Given the description of an element on the screen output the (x, y) to click on. 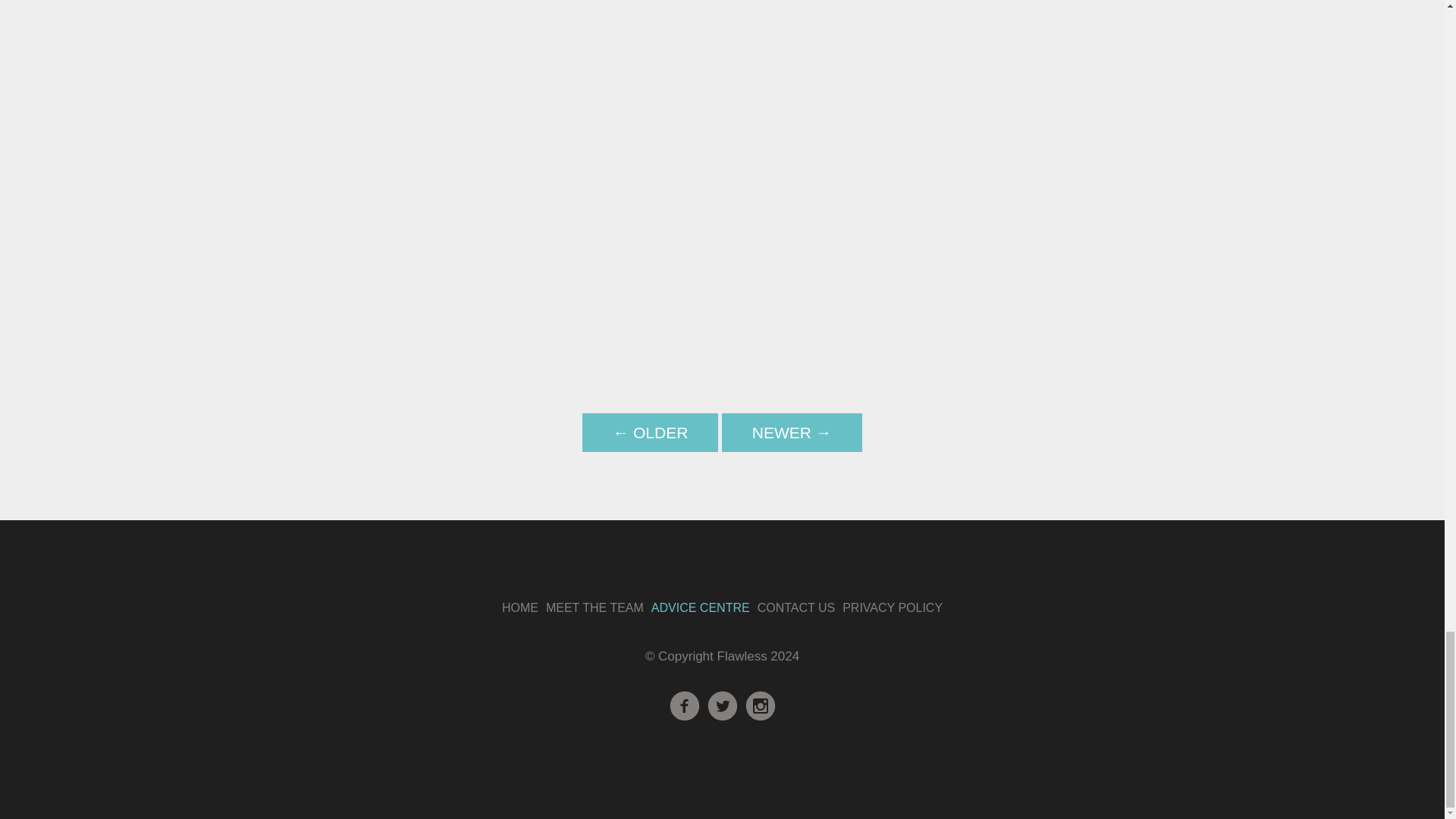
PRIVACY POLICY (892, 607)
CONTACT US (796, 607)
HOME (520, 607)
MEET THE TEAM (594, 607)
ADVICE CENTRE (699, 607)
